Given the description of an element on the screen output the (x, y) to click on. 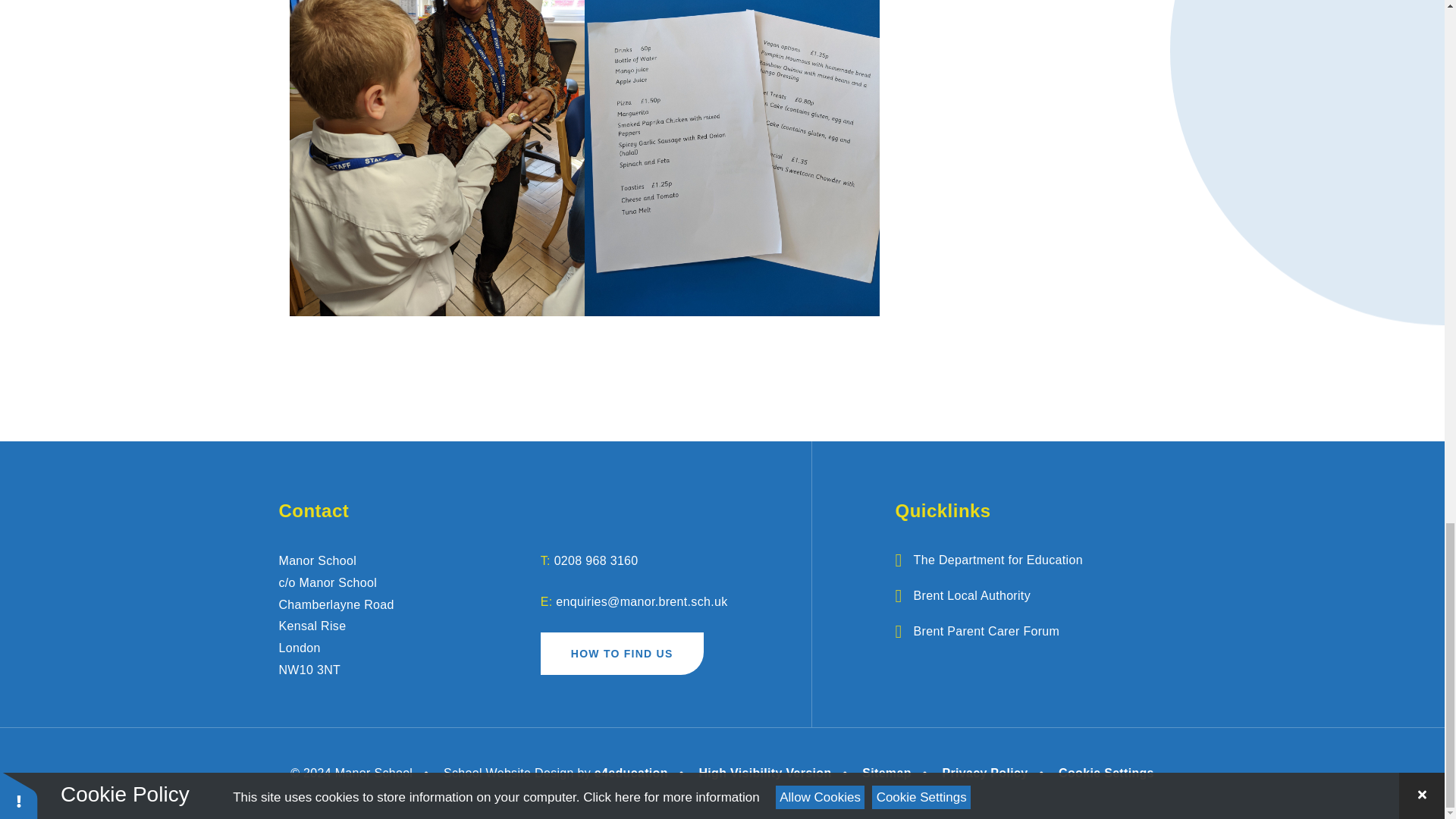
Cookie Settings (1106, 772)
